Given the description of an element on the screen output the (x, y) to click on. 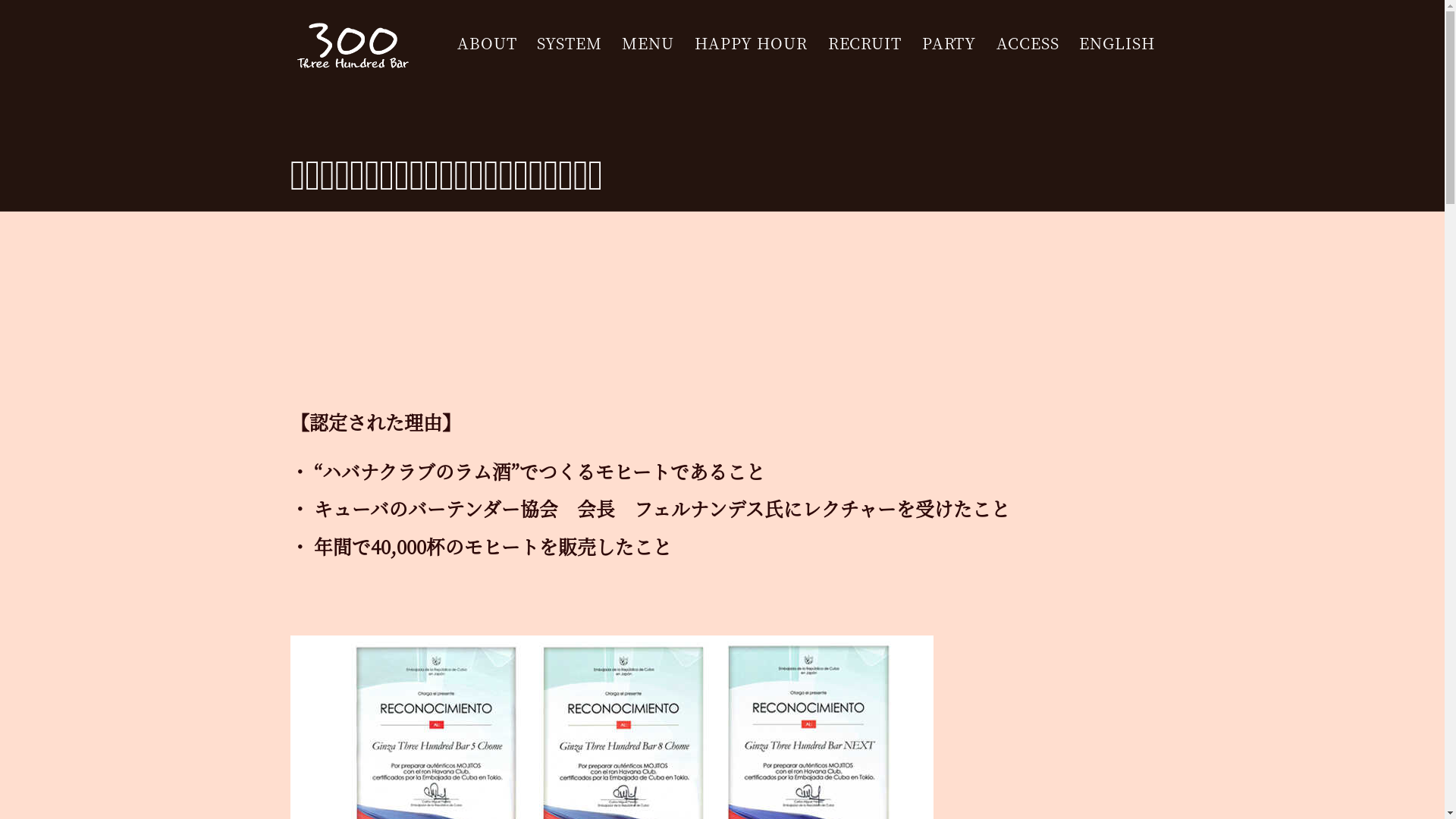
HAPPY HOUR Element type: text (750, 43)
ENGLISH Element type: text (1116, 43)
RECRUIT Element type: text (864, 43)
ACCESS Element type: text (1027, 43)
SYSTEM Element type: text (568, 43)
ABOUT Element type: text (487, 43)
PARTY Element type: text (949, 43)
MENU Element type: text (647, 43)
